Given the description of an element on the screen output the (x, y) to click on. 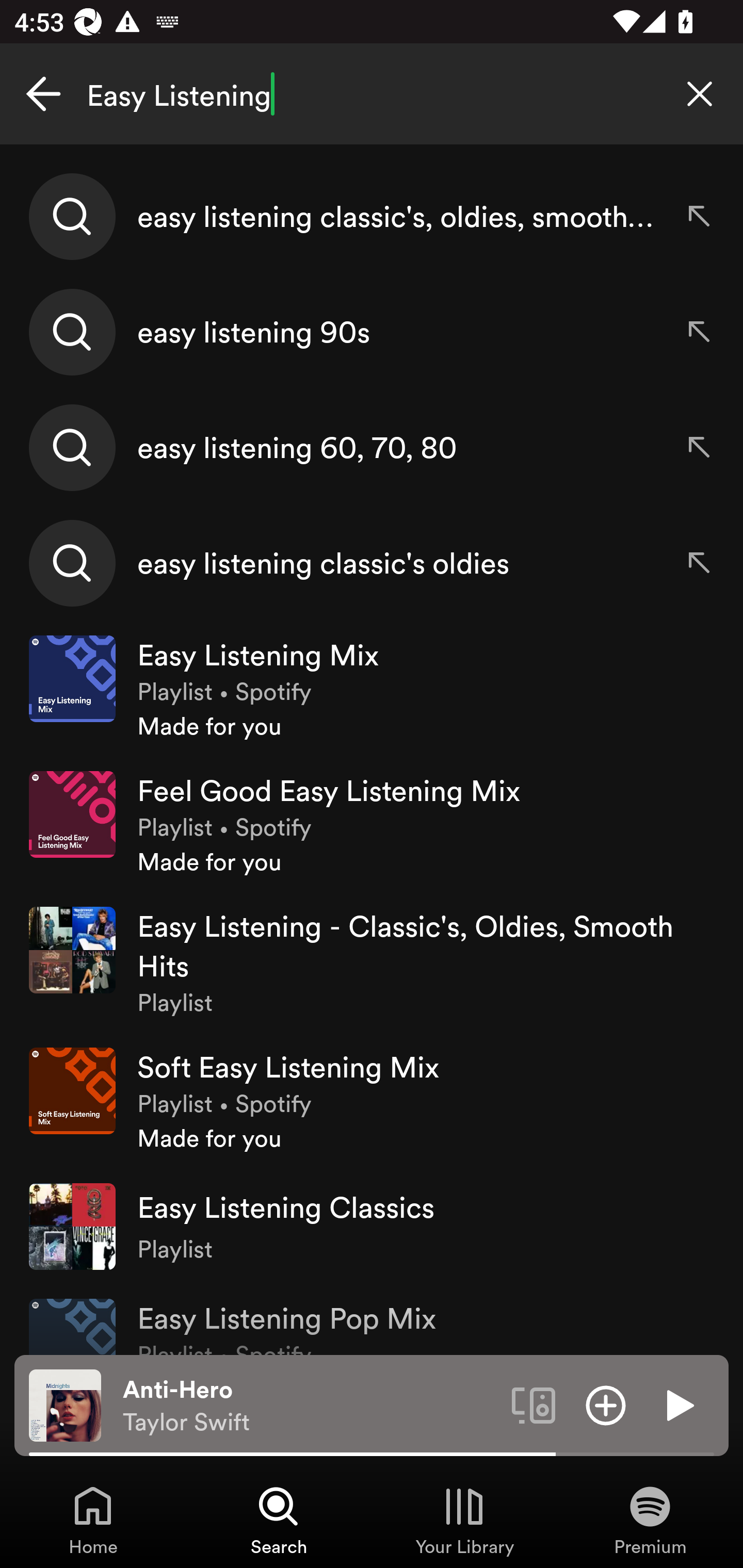
Easy Listening (371, 93)
Cancel (43, 93)
Clear search query (699, 93)
easy listening classic's, oldies, smooth hits (371, 216)
easy listening 90s (371, 332)
easy listening 60, 70, 80 (371, 447)
easy listening classic's oldies (371, 562)
Easy Listening Mix Playlist • Spotify Made for you (371, 688)
Easy Listening Classics Playlist (371, 1226)
Easy Listening Pop Mix Playlist • Spotify (371, 1319)
Anti-Hero Taylor Swift (309, 1405)
The cover art of the currently playing track (64, 1404)
Connect to a device. Opens the devices menu (533, 1404)
Add item (605, 1404)
Play (677, 1404)
Home, Tab 1 of 4 Home Home (92, 1519)
Search, Tab 2 of 4 Search Search (278, 1519)
Your Library, Tab 3 of 4 Your Library Your Library (464, 1519)
Premium, Tab 4 of 4 Premium Premium (650, 1519)
